Given the description of an element on the screen output the (x, y) to click on. 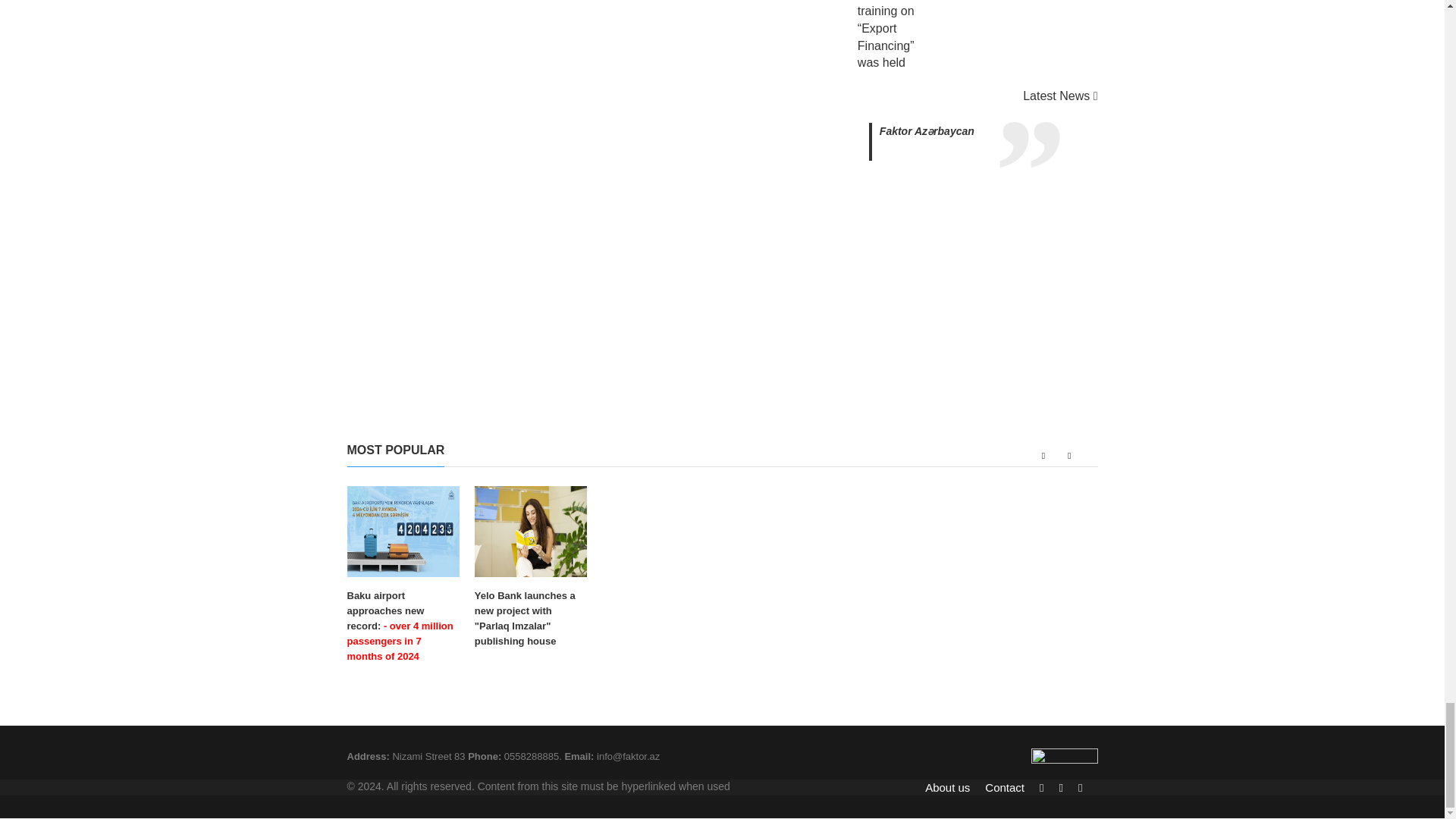
LiveInternet (1063, 760)
